Given the description of an element on the screen output the (x, y) to click on. 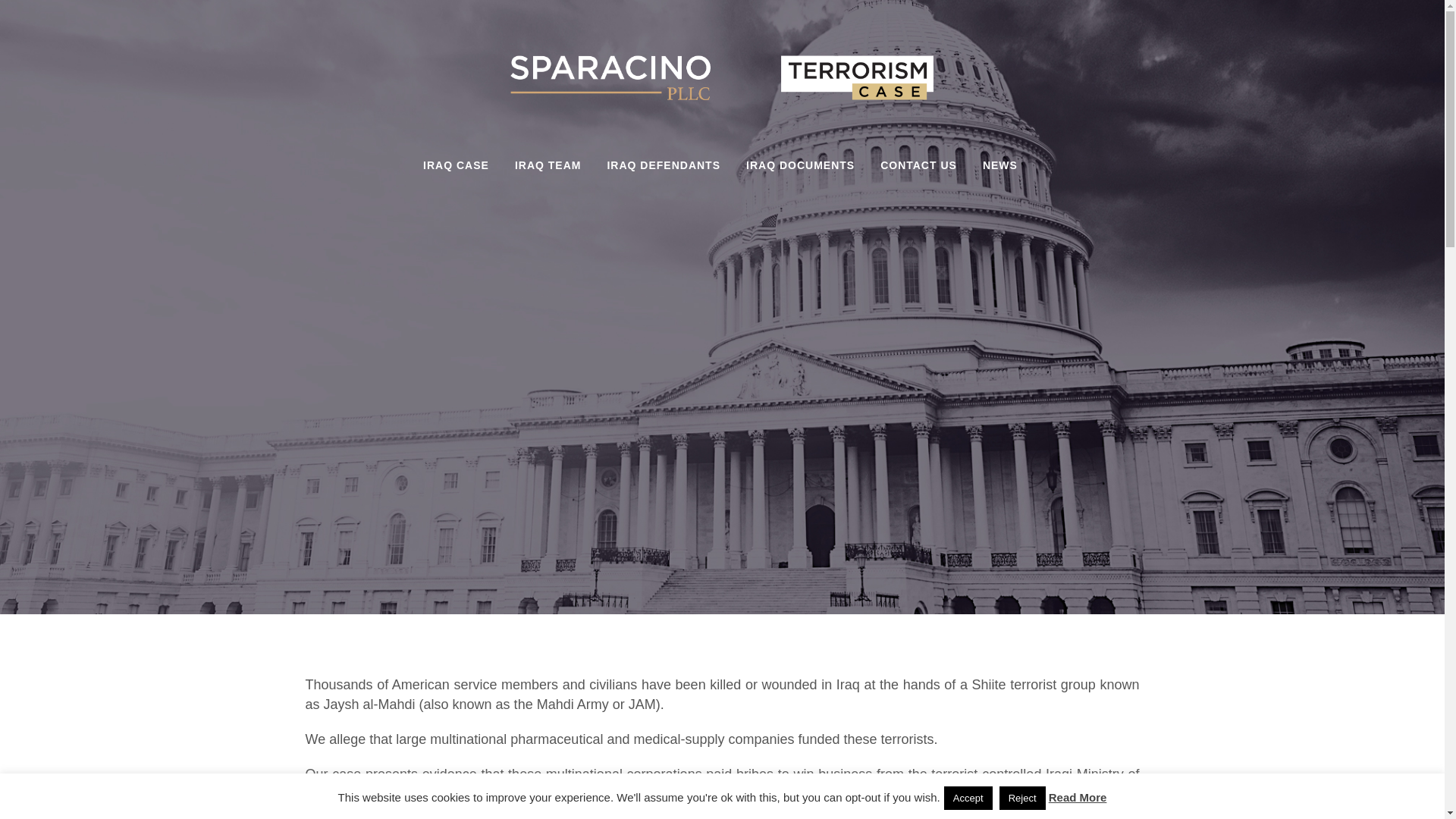
IRAQ DOCUMENTS (800, 165)
IRAQ TEAM (548, 165)
IRAQ CASE (456, 165)
IRAQ DEFENDANTS (663, 165)
CONTACT US (918, 165)
